Given the description of an element on the screen output the (x, y) to click on. 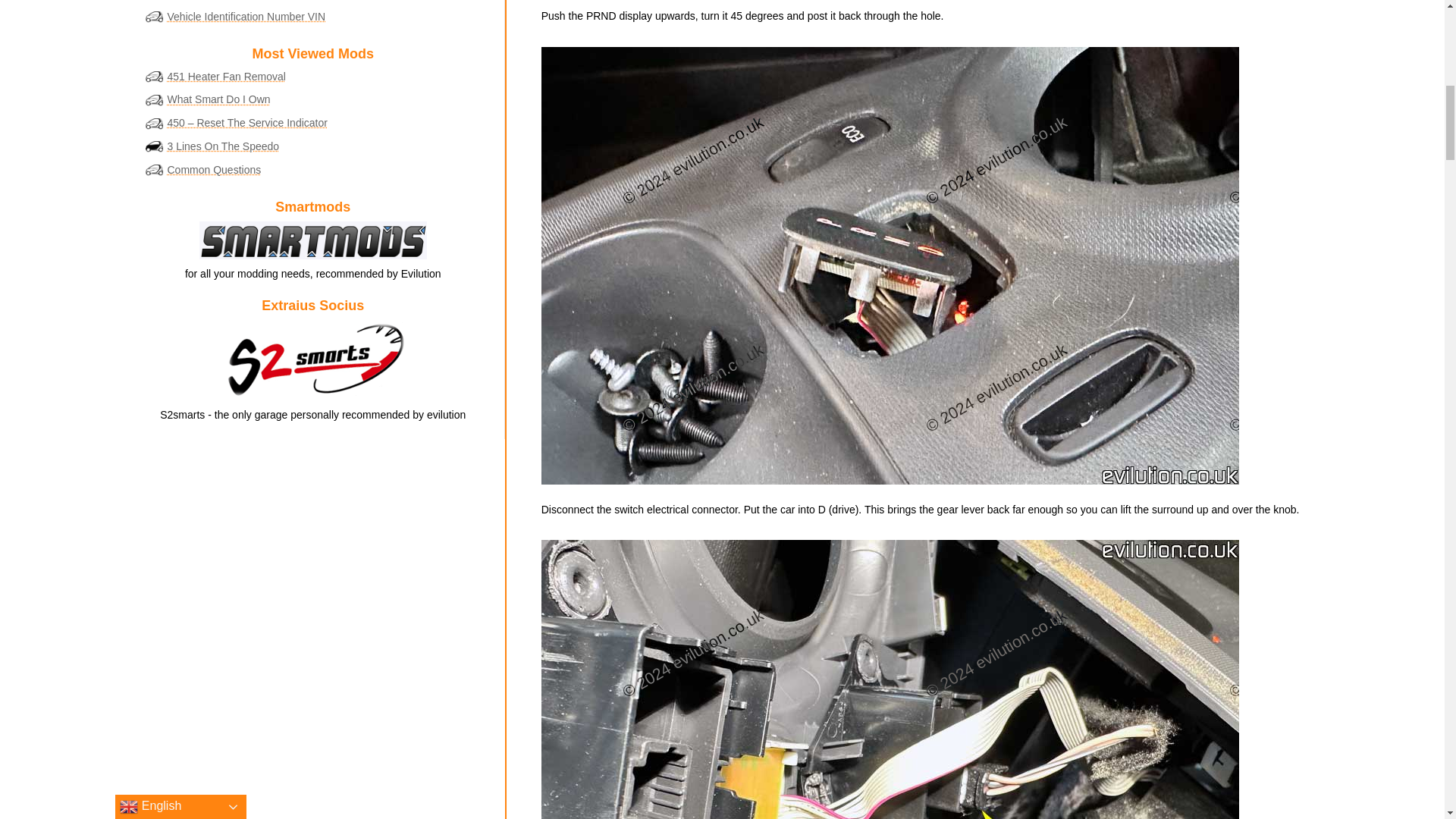
smartmods (312, 240)
451 Heater Fan Removal (226, 76)
What Smart Do I Own (218, 99)
S2smarts (312, 360)
Vehicle Identification Number VIN (245, 16)
